Given the description of an element on the screen output the (x, y) to click on. 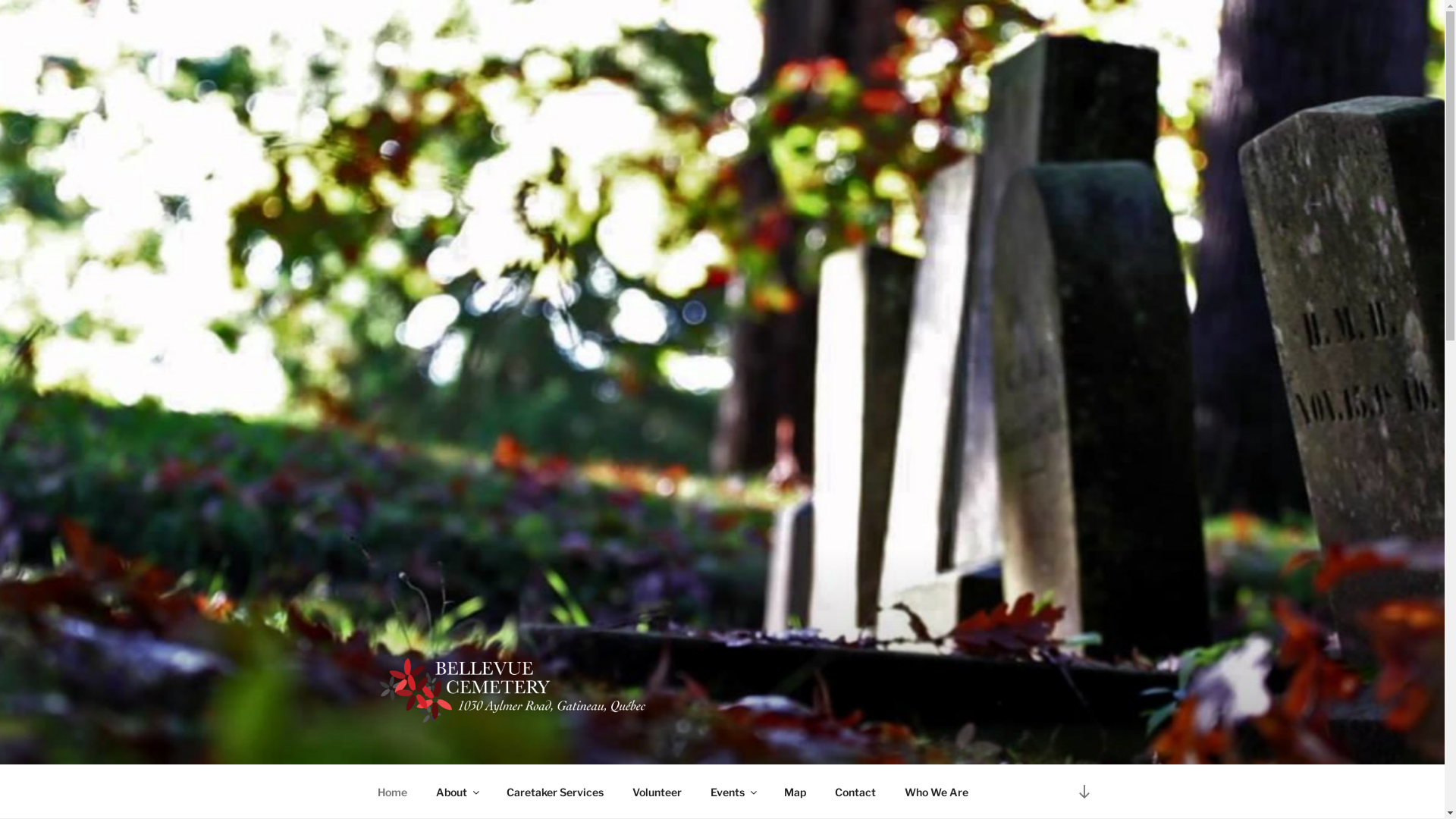
Map Element type: text (794, 791)
Home Element type: text (392, 791)
Who We Are Element type: text (936, 791)
Events Element type: text (732, 791)
About Element type: text (457, 791)
Contact Element type: text (855, 791)
Scroll down to content Element type: text (1083, 790)
Volunteer Element type: text (656, 791)
Caretaker Services Element type: text (554, 791)
